Given the description of an element on the screen output the (x, y) to click on. 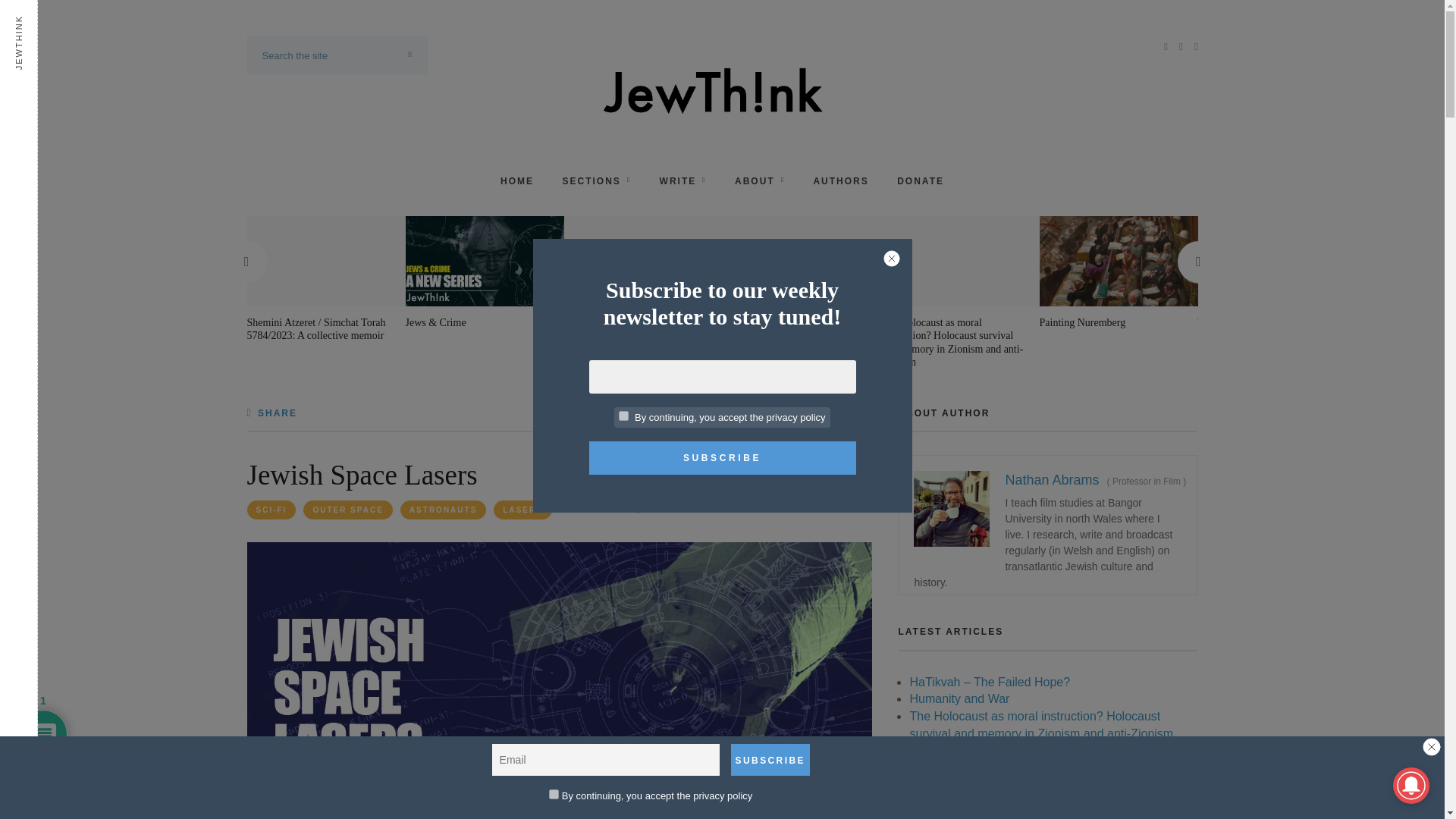
ABOUT (759, 180)
on (553, 794)
Subscribe (722, 458)
AUTHORS (839, 180)
DONATE (919, 180)
WRITE (682, 180)
HOME (517, 180)
SECTIONS (596, 180)
on (623, 415)
Posts by Nathan Abrams (732, 509)
Subscribe (769, 759)
